Given the description of an element on the screen output the (x, y) to click on. 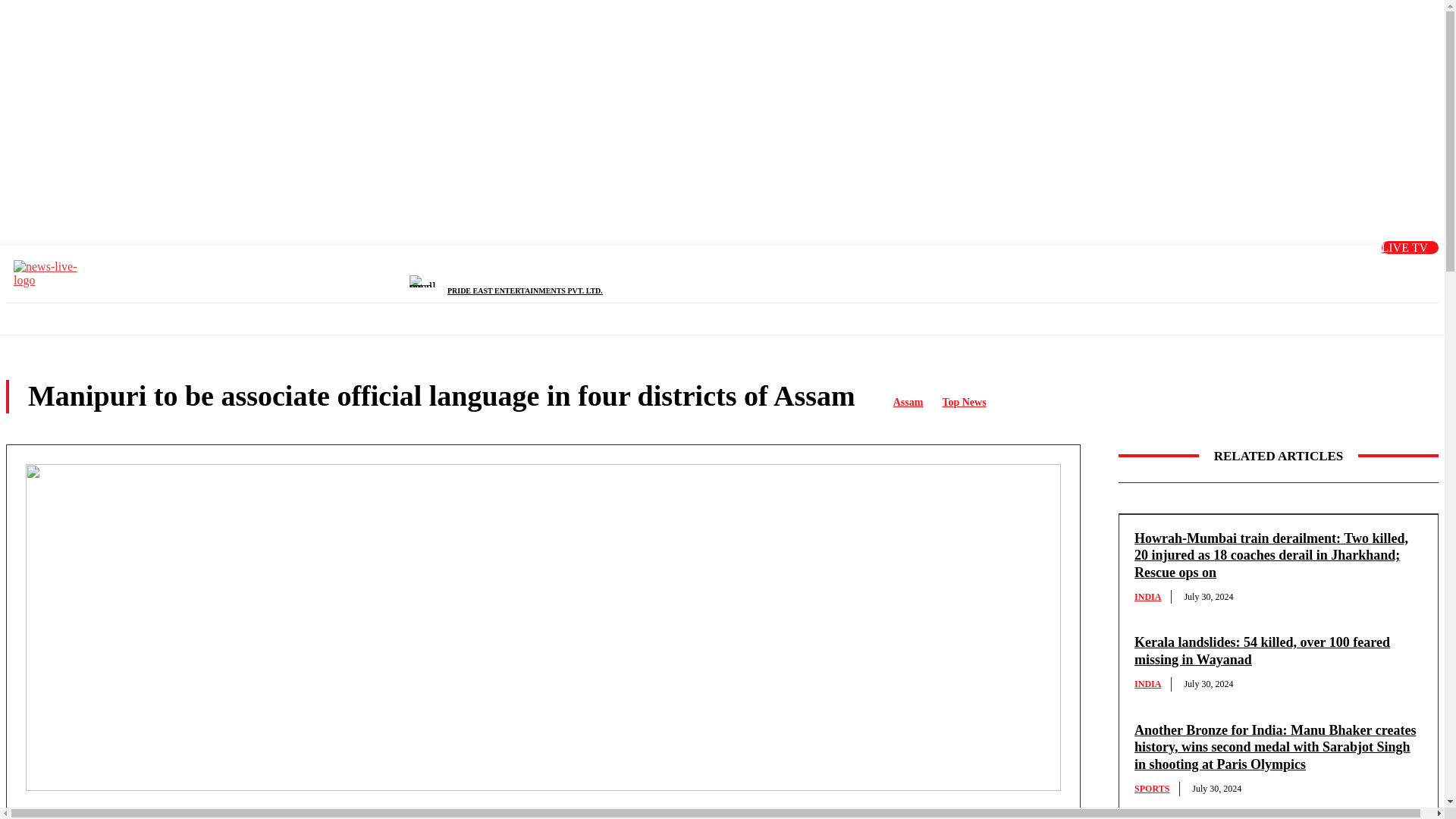
Youtube (1332, 268)
Facebook (1217, 268)
news-live-logo (50, 273)
PRIDE EAST ENTERTAINMENTS PVT. LTD. (524, 290)
Instagram (1294, 268)
peepl-small (427, 281)
Twitter (1257, 268)
LIVE TV (1409, 246)
